Given the description of an element on the screen output the (x, y) to click on. 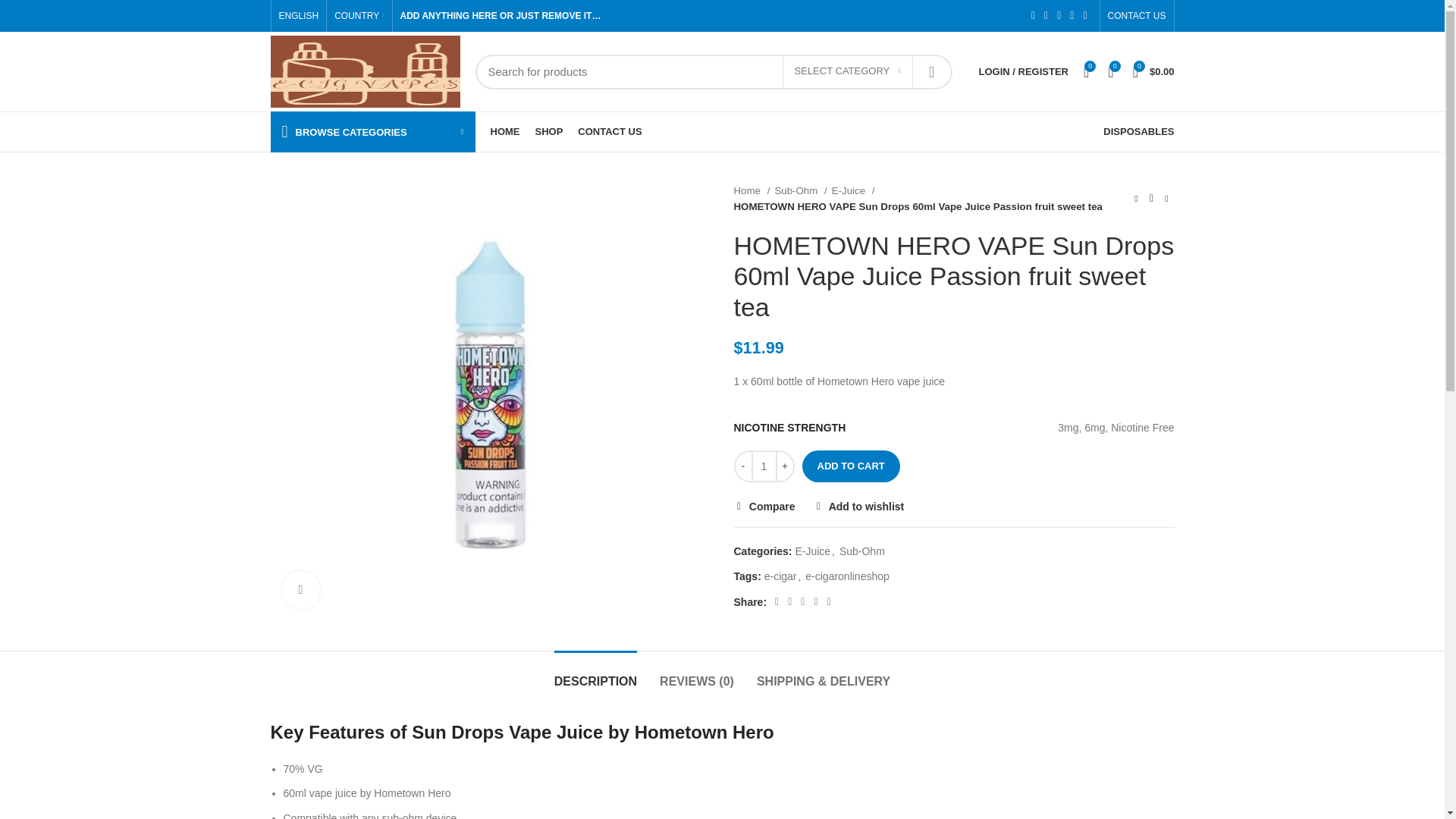
SELECT CATEGORY (847, 71)
CONTACT US (1136, 15)
My account (1023, 71)
SELECT CATEGORY (847, 71)
ENGLISH (298, 15)
COUNTRY (358, 15)
Shopping cart (1153, 71)
Search for products (713, 71)
